Given the description of an element on the screen output the (x, y) to click on. 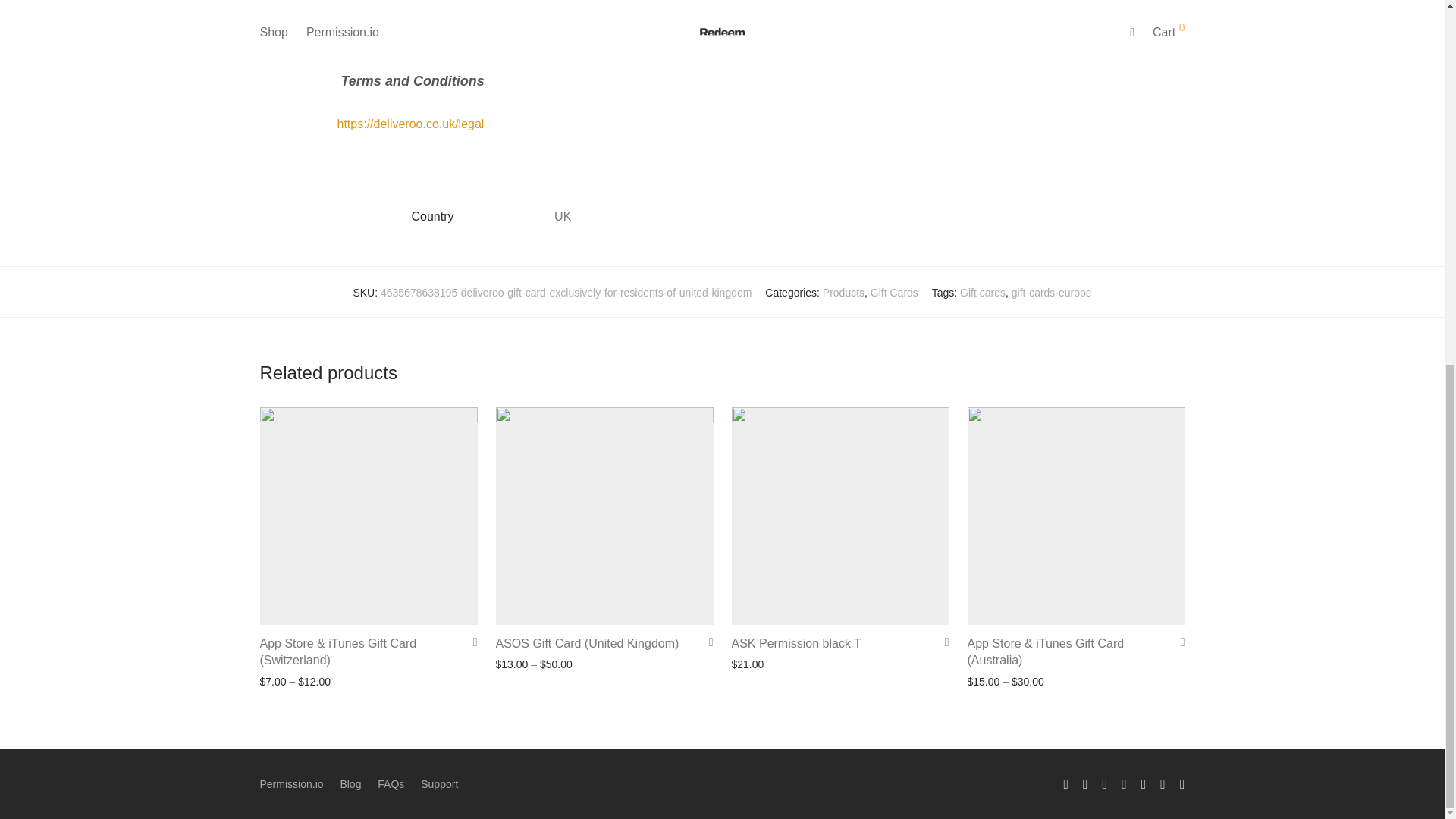
Products (843, 292)
Add to Wishlist (470, 641)
Gift Cards (894, 292)
Add to Wishlist (1177, 641)
ASK Permission black T (795, 643)
Gift cards (982, 292)
Add to Wishlist (705, 641)
Add to Wishlist (941, 641)
gift-cards-europe (1051, 292)
